Given the description of an element on the screen output the (x, y) to click on. 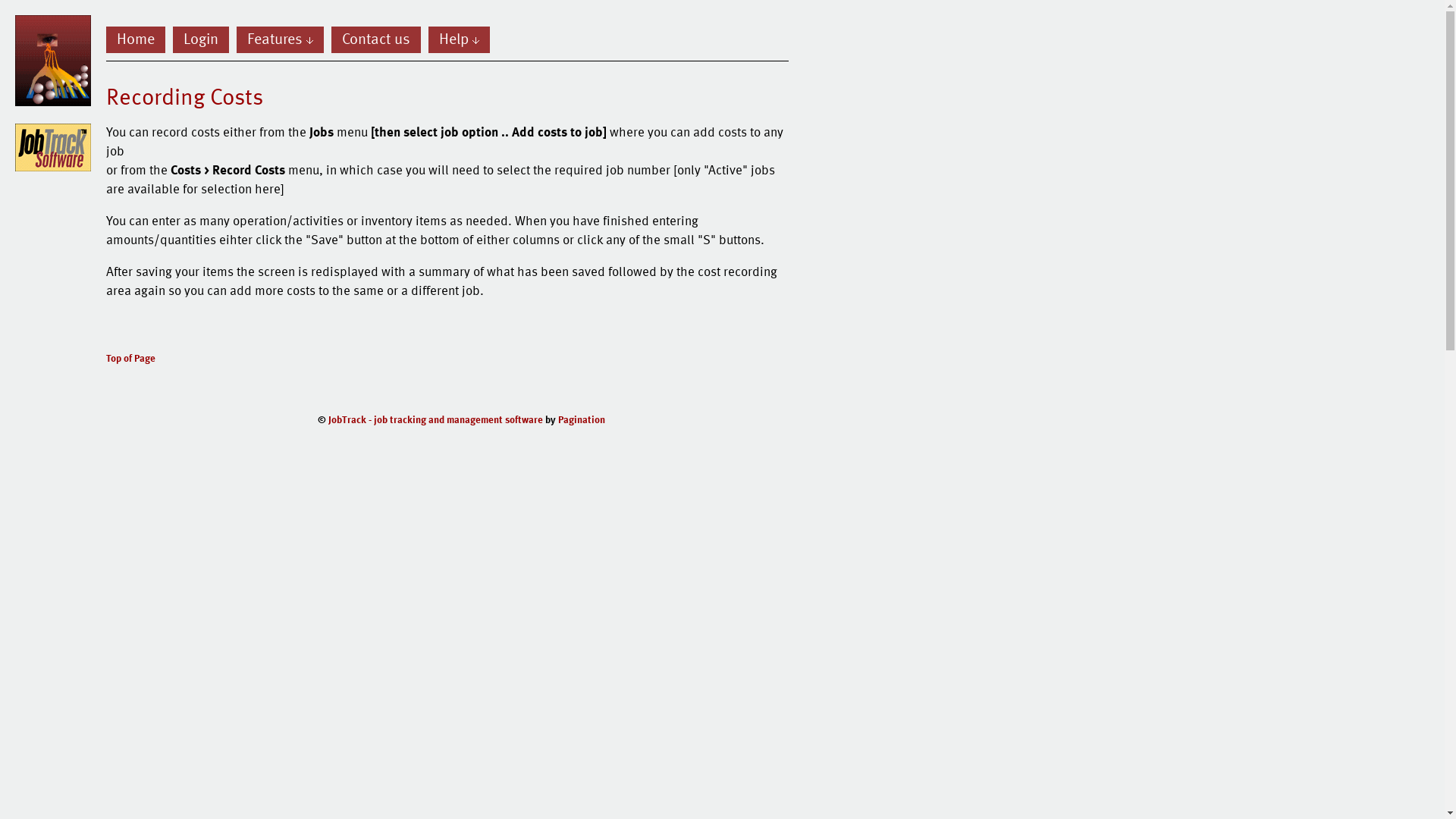
Top of Page Element type: text (130, 357)
JobTrack - job tracking and management software Element type: text (435, 418)
Pagination Element type: text (581, 418)
